Given the description of an element on the screen output the (x, y) to click on. 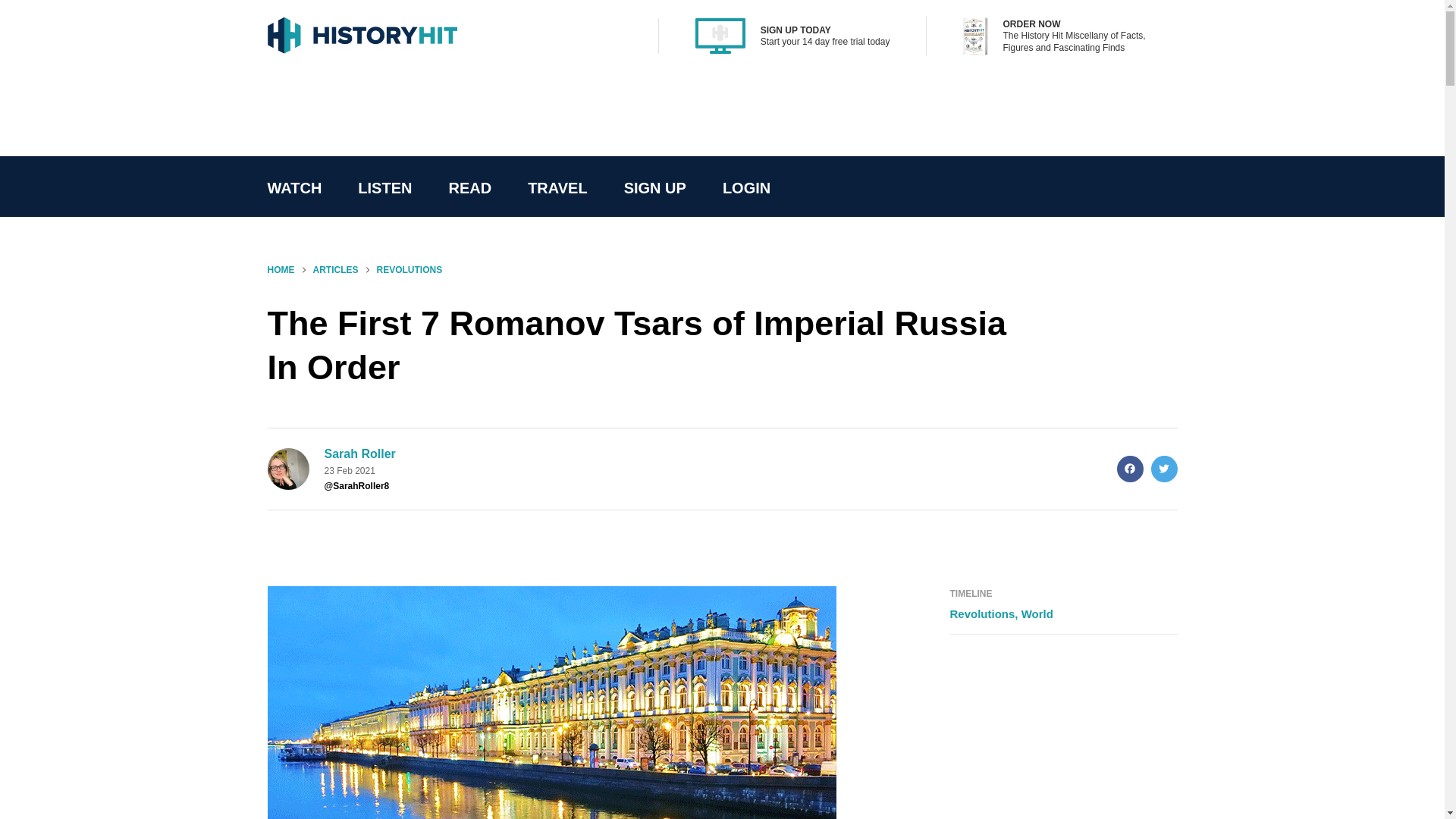
Start your 14 day free trial today (824, 41)
LISTEN (384, 187)
WATCH (293, 187)
ORDER NOW (1031, 23)
READ (469, 187)
SIGN UP TODAY (795, 30)
